Given the description of an element on the screen output the (x, y) to click on. 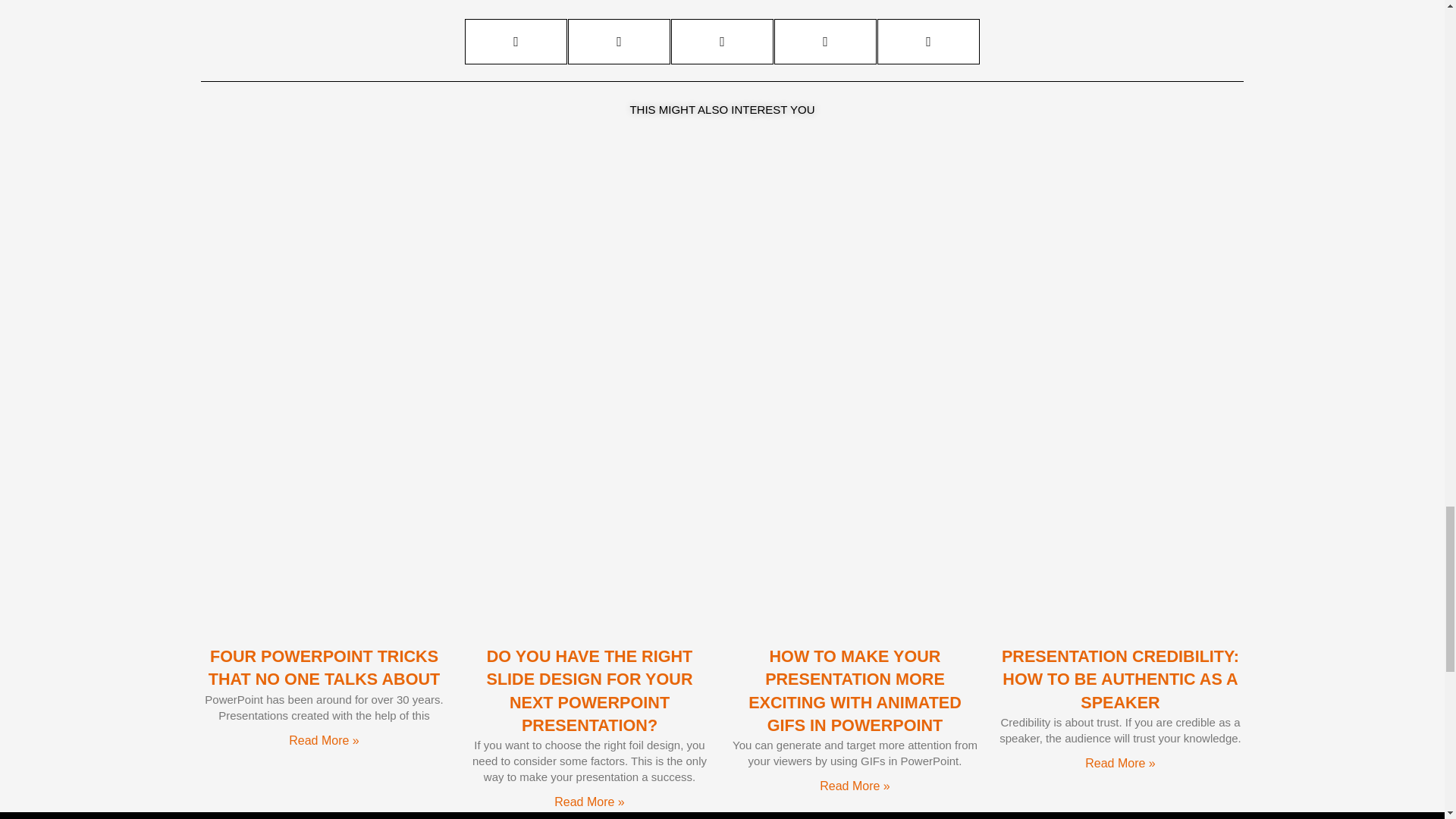
FOUR POWERPOINT TRICKS THAT NO ONE TALKS ABOUT (324, 667)
